Given the description of an element on the screen output the (x, y) to click on. 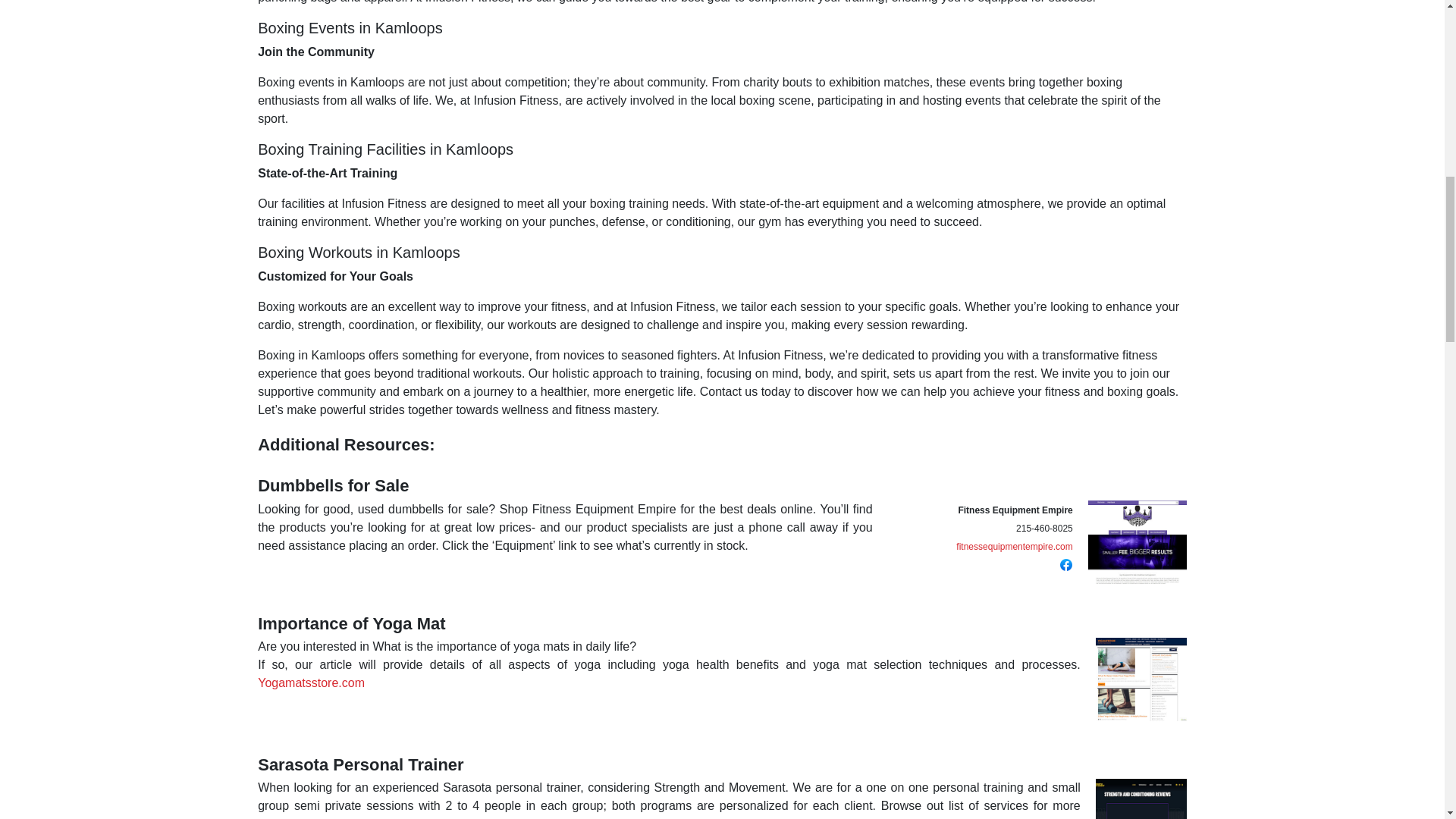
Importance of Yoga Mat (351, 623)
Dumbbells for Sale (333, 485)
Sarasota Personal Trainer (360, 764)
fitnessequipmentempire.com (1013, 546)
Yogamatsstore.com (311, 682)
Dumbbells for Sale (333, 485)
Sarasota Personal Trainer (360, 764)
Importance of Yoga Mat (351, 623)
